Given the description of an element on the screen output the (x, y) to click on. 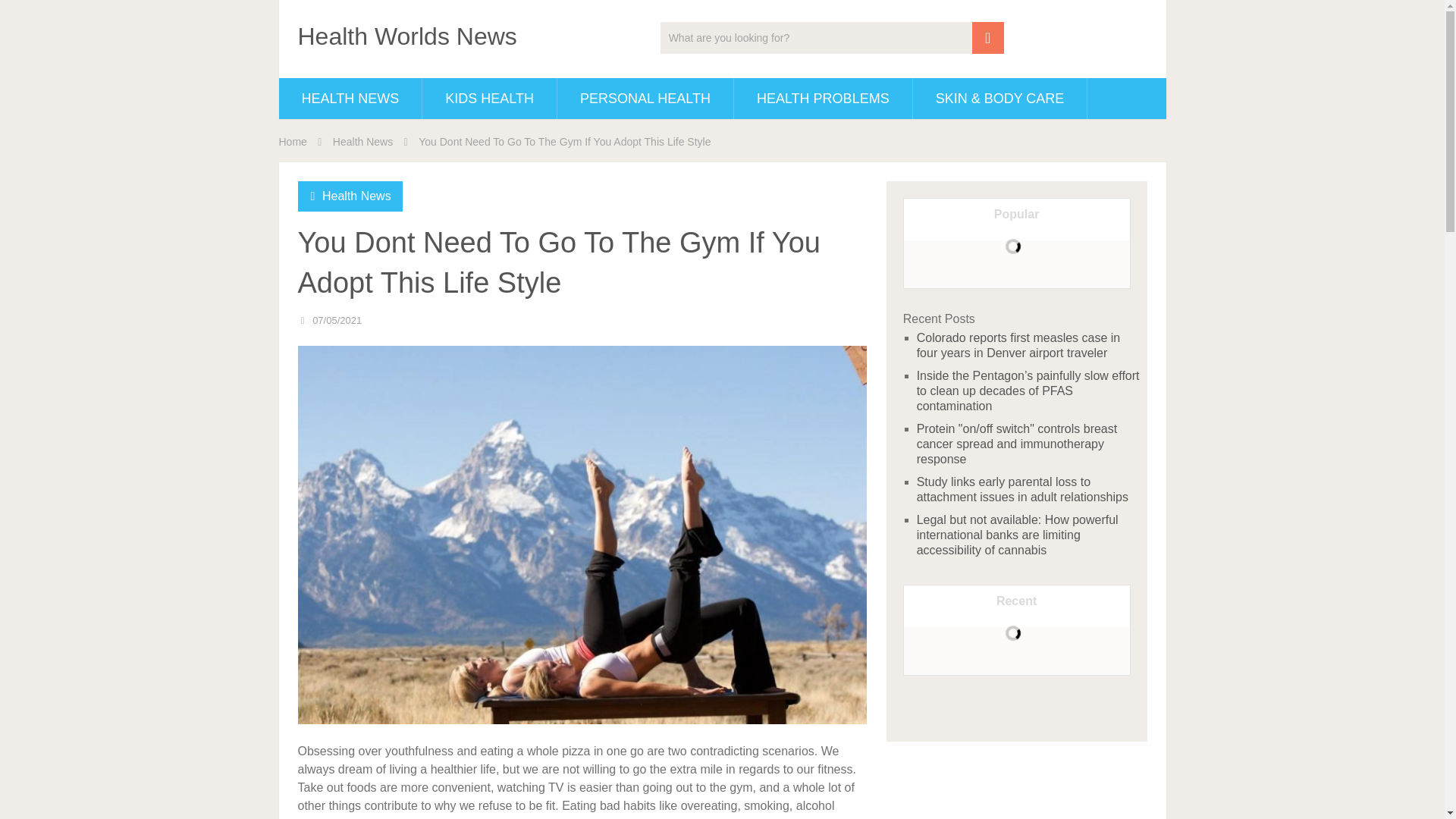
HEALTH NEWS (350, 97)
What are you looking for? (832, 38)
Health News (356, 195)
Recent (1016, 602)
PERSONAL HEALTH (645, 97)
Health Worlds News (406, 36)
Popular (1016, 215)
KIDS HEALTH (489, 97)
